Given the description of an element on the screen output the (x, y) to click on. 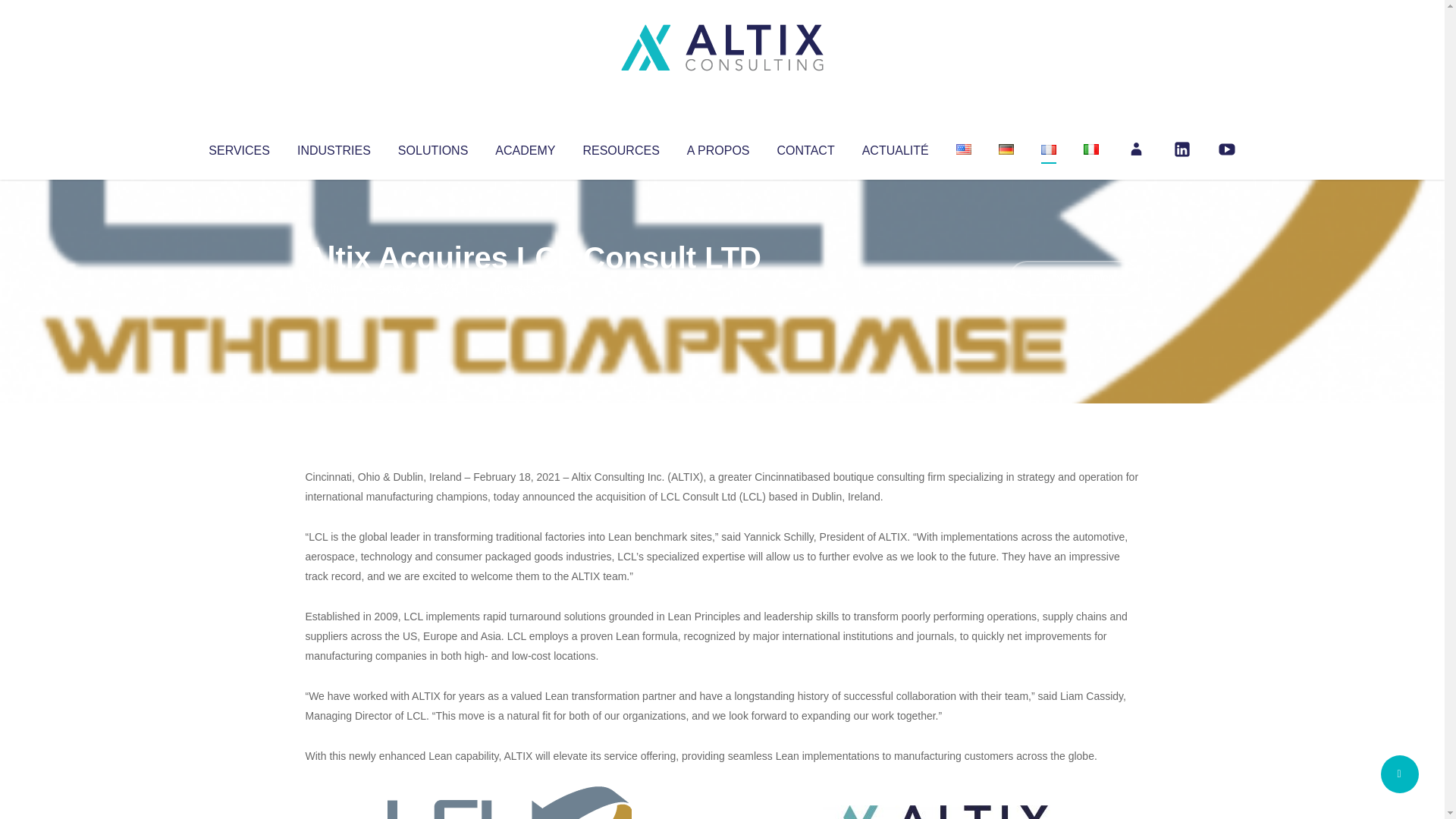
INDUSTRIES (334, 146)
ACADEMY (524, 146)
Articles par Altix (333, 287)
Altix (333, 287)
Uncategorized (530, 287)
No Comments (1073, 278)
SERVICES (238, 146)
RESOURCES (620, 146)
SOLUTIONS (432, 146)
A PROPOS (718, 146)
